Given the description of an element on the screen output the (x, y) to click on. 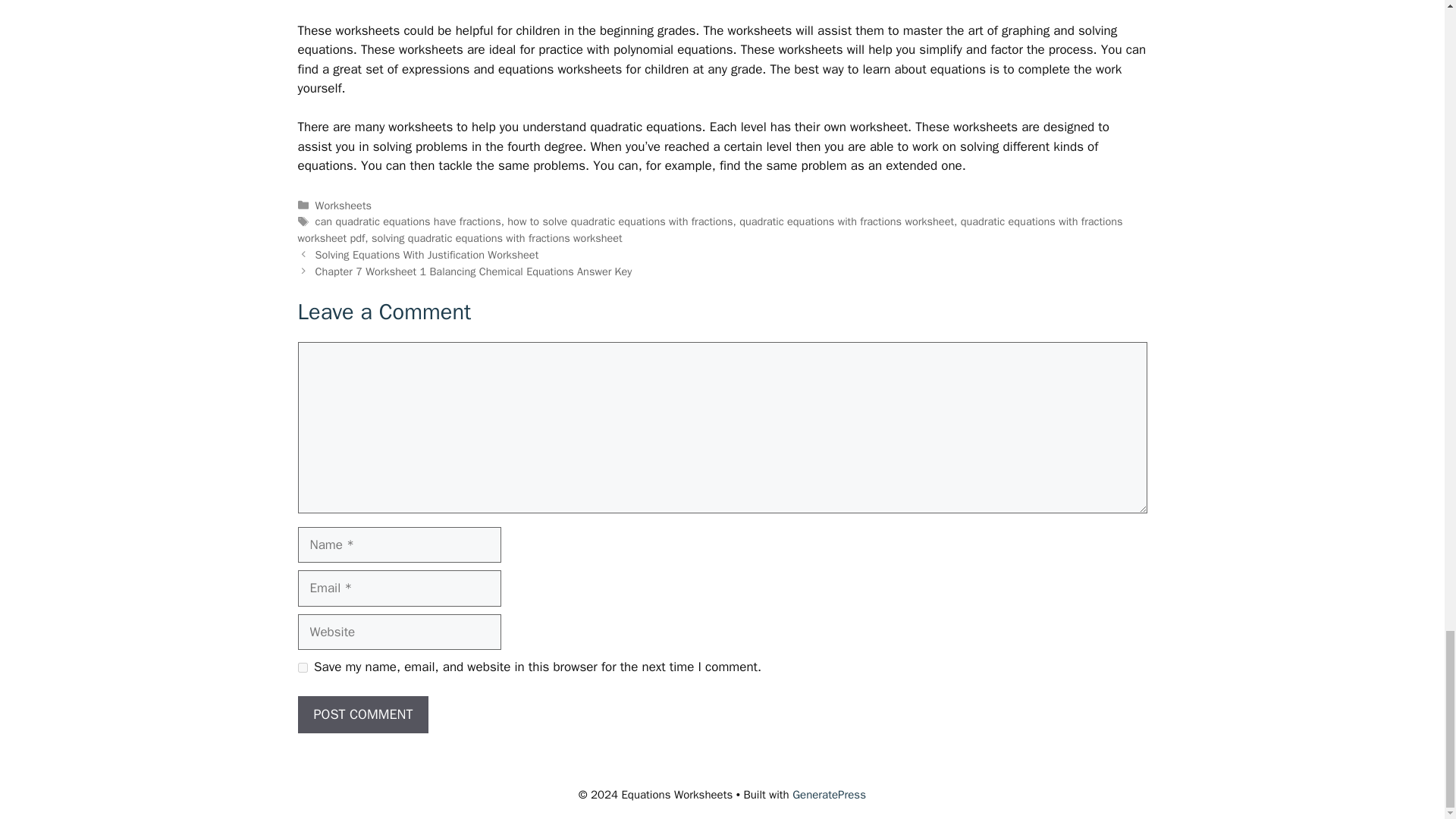
yes (302, 667)
quadratic equations with fractions worksheet (846, 221)
GeneratePress (829, 794)
Solving Equations With Justification Worksheet (426, 254)
solving quadratic equations with fractions worksheet (497, 237)
Post Comment (362, 714)
Worksheets (343, 205)
Post Comment (362, 714)
quadratic equations with fractions worksheet pdf (709, 229)
how to solve quadratic equations with fractions (619, 221)
